Given the description of an element on the screen output the (x, y) to click on. 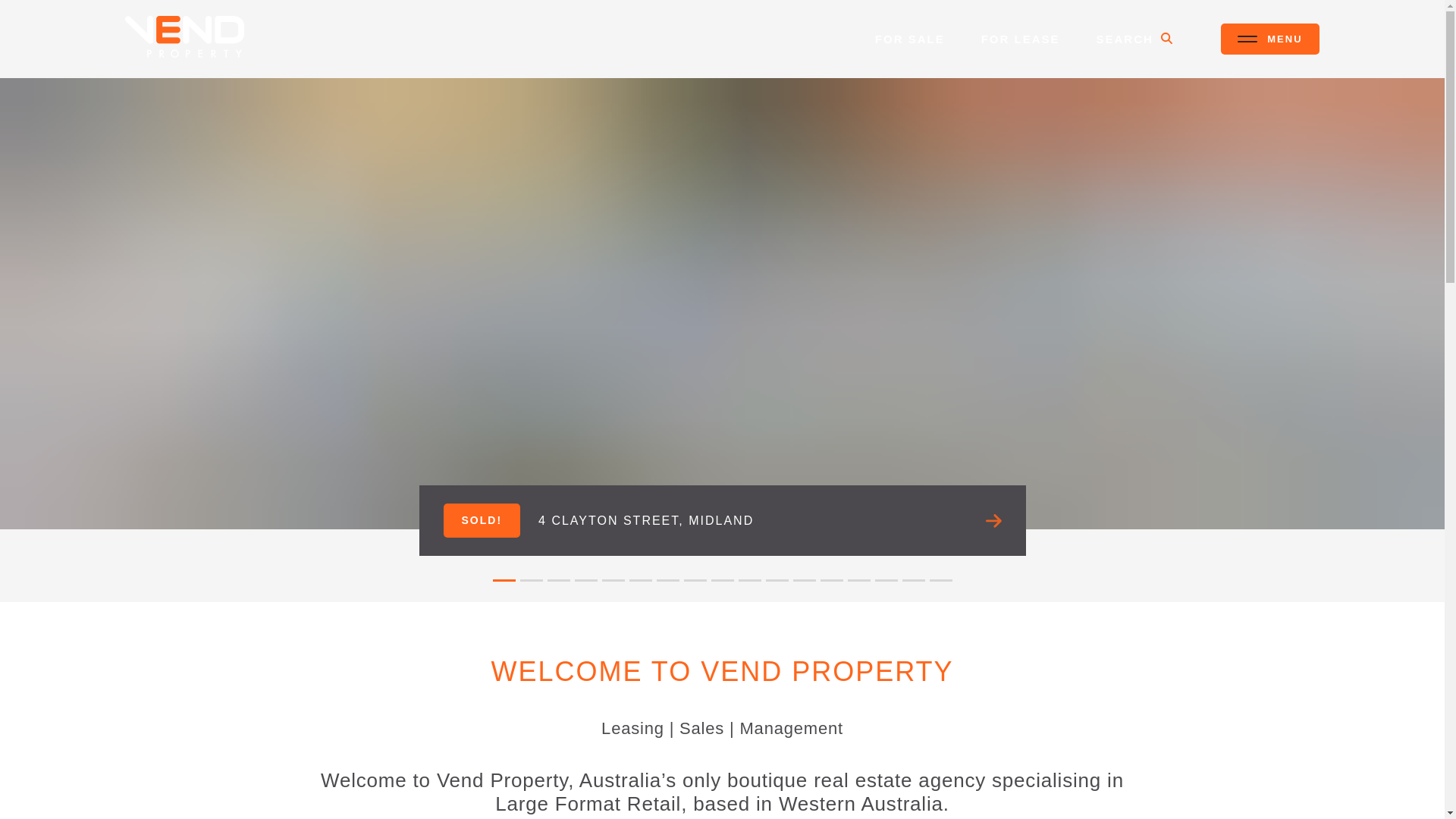
FOR LEASE (1020, 38)
SEARCH (1134, 38)
FOR SALE (909, 38)
